Given the description of an element on the screen output the (x, y) to click on. 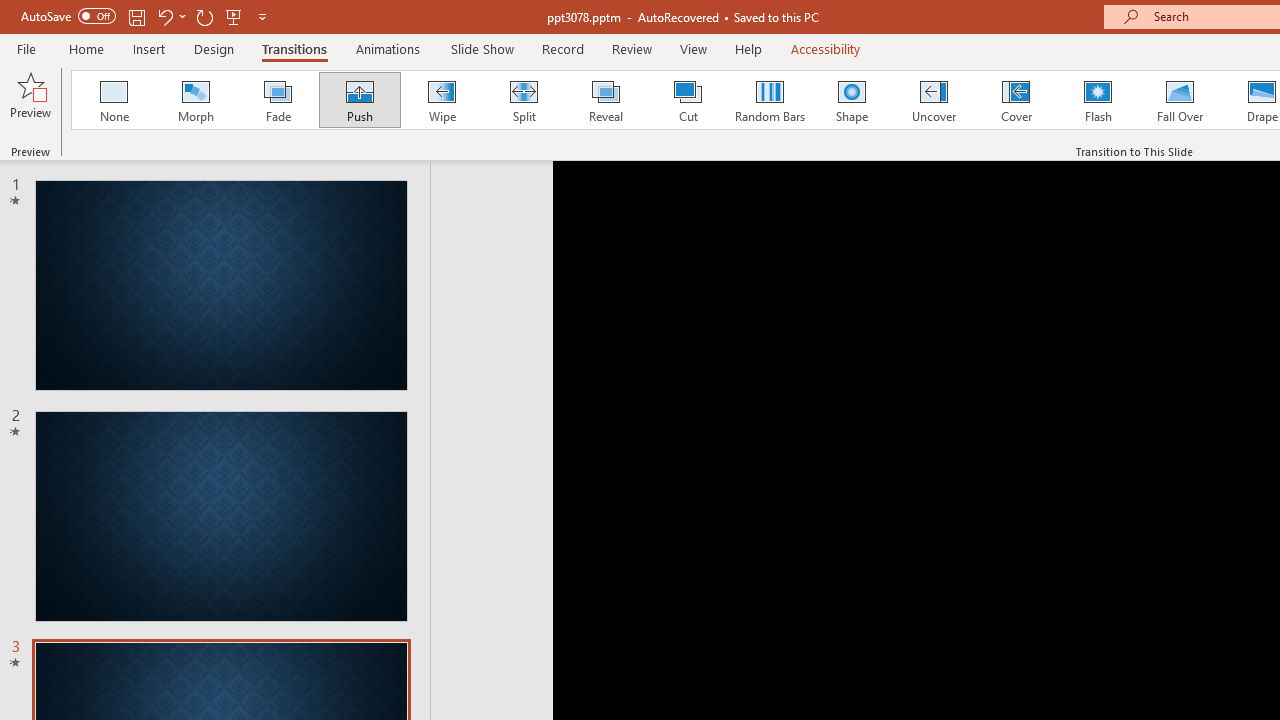
Cut (687, 100)
Fall Over (1180, 100)
Morph (195, 100)
Fade (277, 100)
